Given the description of an element on the screen output the (x, y) to click on. 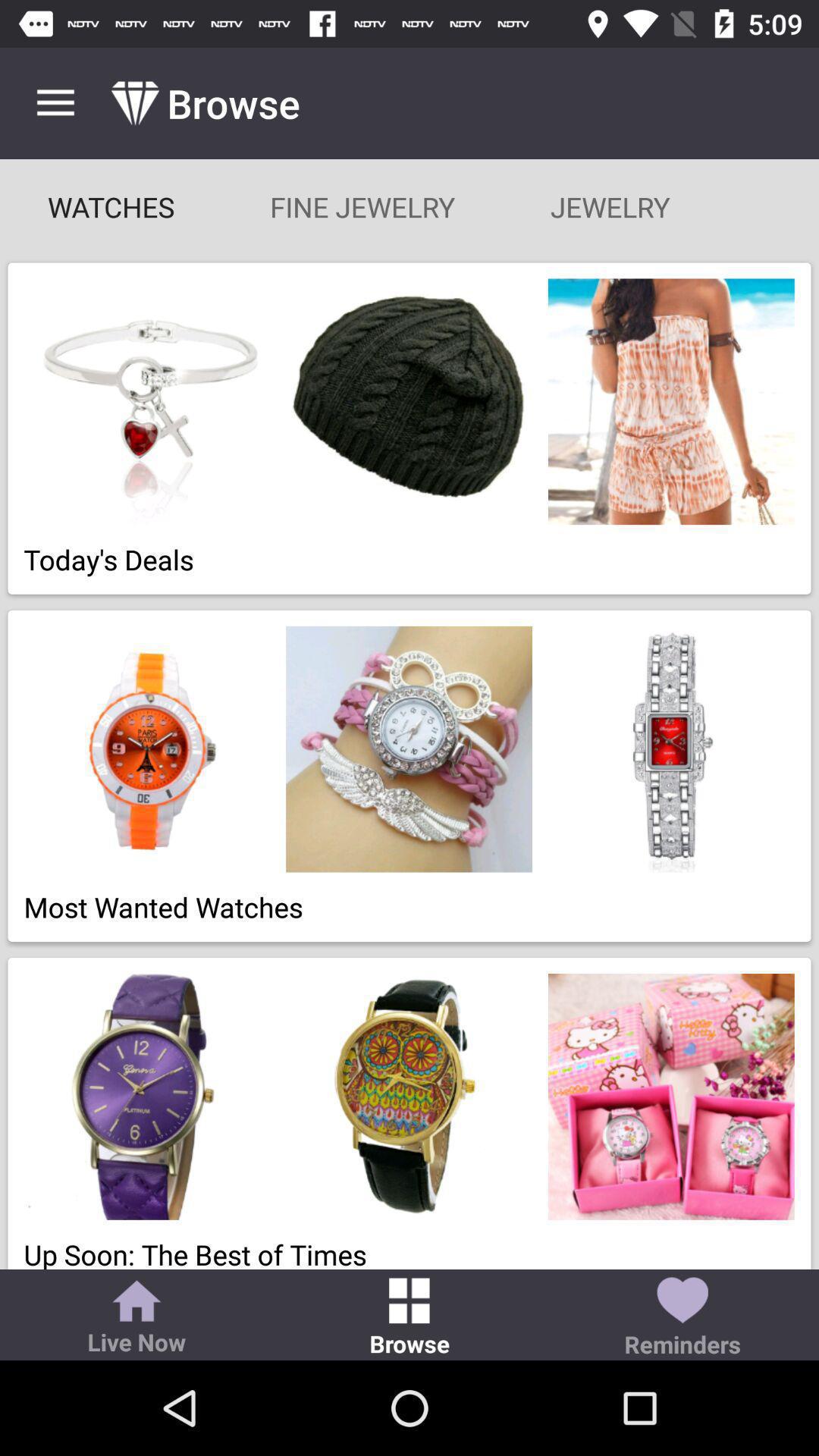
tap item below browse app (362, 206)
